Given the description of an element on the screen output the (x, y) to click on. 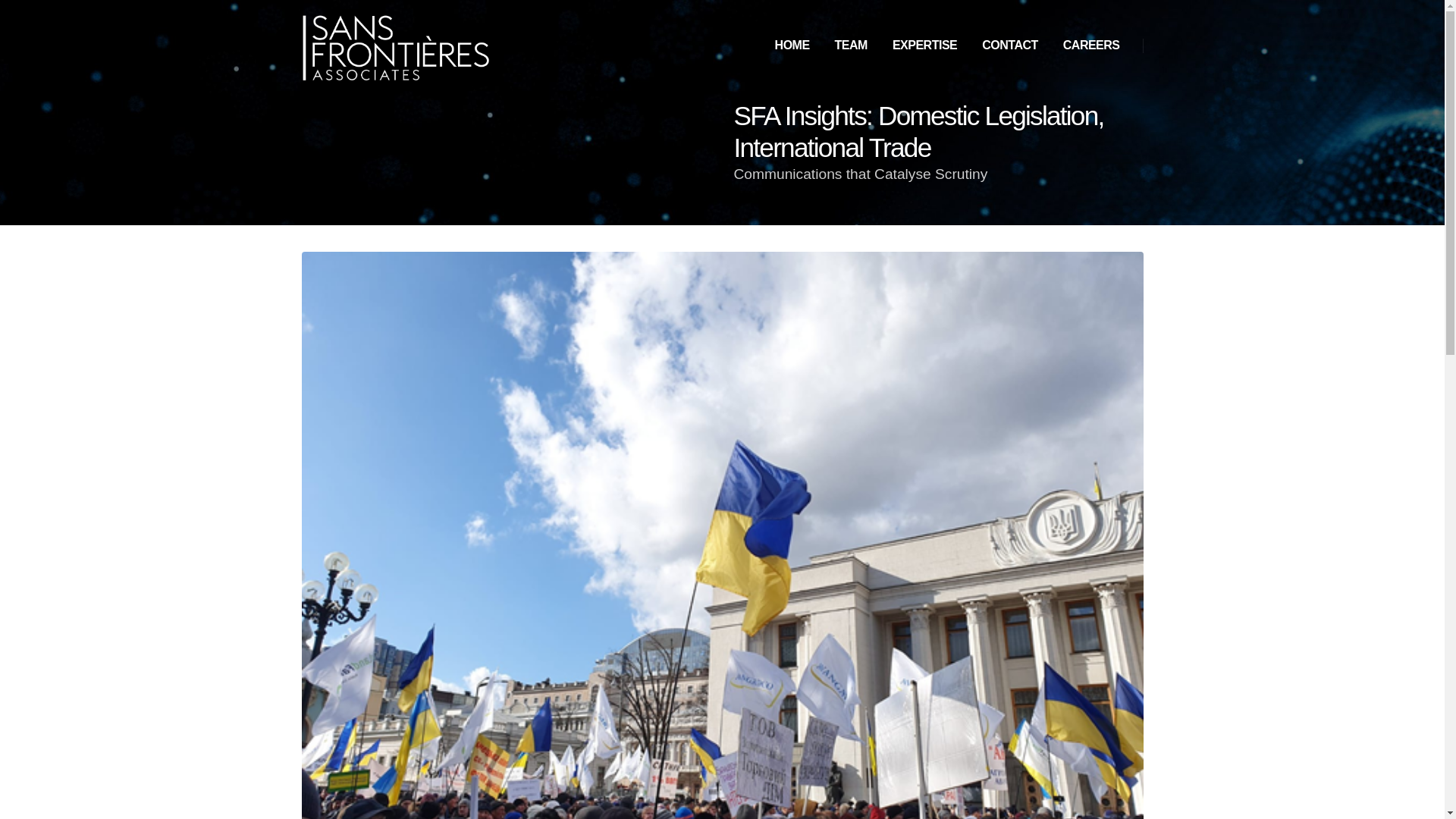
CONTACT (1009, 45)
EXPERTISE (924, 45)
TEAM (850, 45)
CAREERS (1091, 45)
HOME (792, 45)
